Given the description of an element on the screen output the (x, y) to click on. 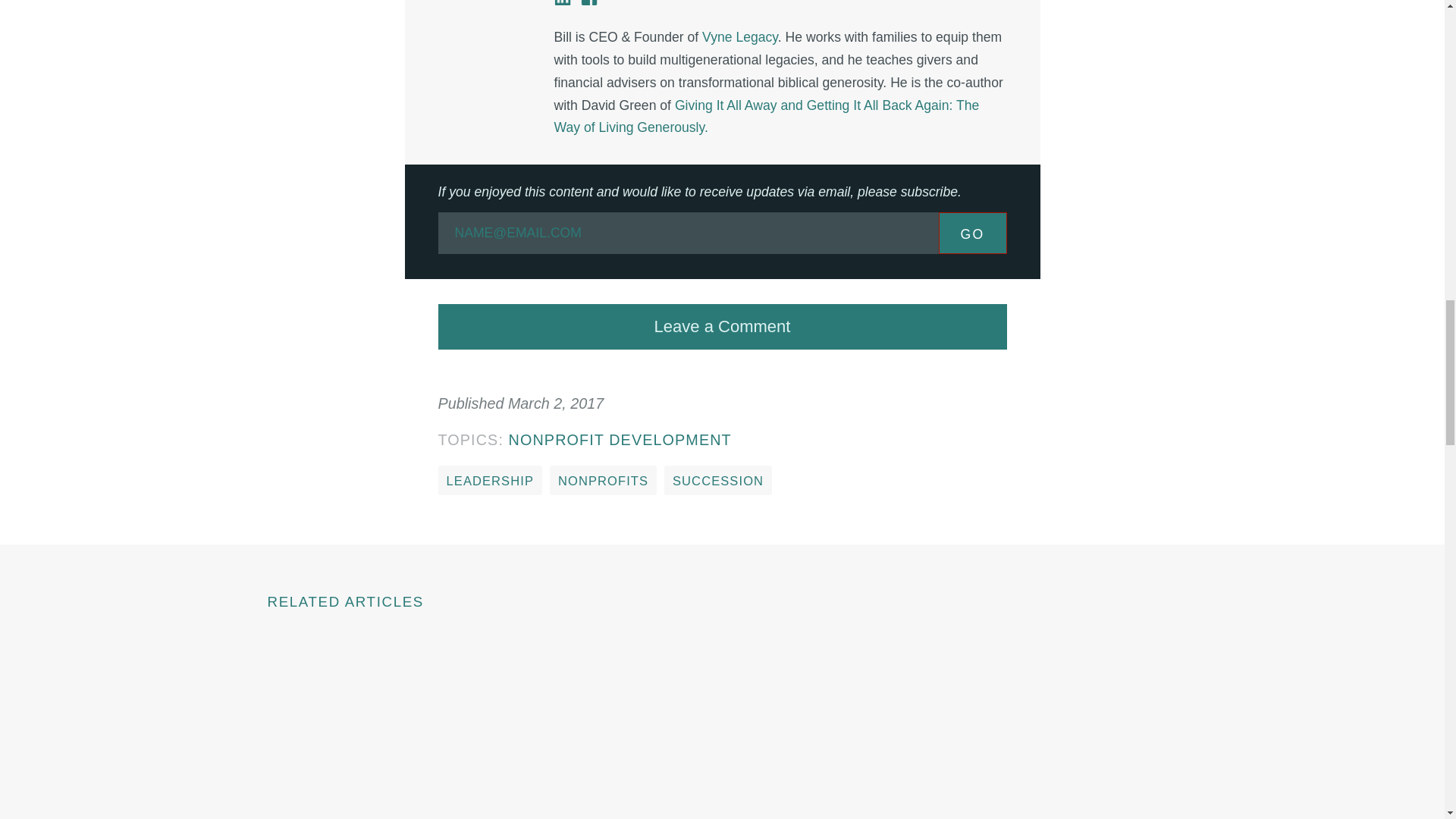
GO (973, 232)
Leave a Comment (722, 325)
LEADERSHIP (490, 480)
Vyne Legacy (739, 37)
NONPROFIT DEVELOPMENT (620, 439)
NONPROFITS (603, 480)
SUCCESSION (717, 480)
